Given the description of an element on the screen output the (x, y) to click on. 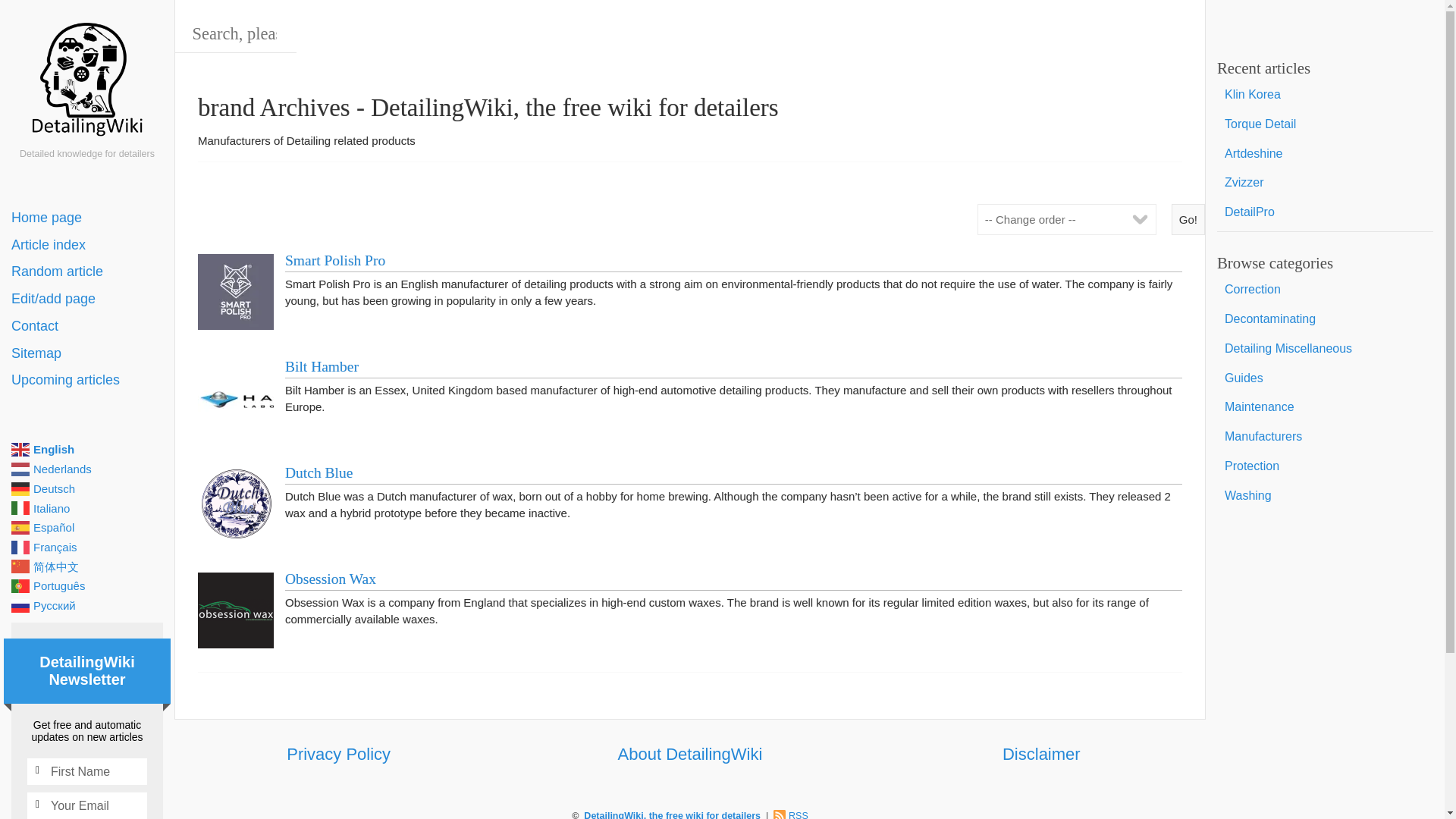
Random article (87, 271)
Detailing Miscellaneous (1324, 348)
Sitemap (87, 353)
Manufacturers (1324, 437)
Maintenance (1324, 407)
Klin Korea (1324, 94)
Decontaminating (1324, 319)
Go! (1188, 219)
Zvizzer (1324, 183)
Contact (87, 326)
Protection (1324, 466)
Italiano (87, 507)
English (87, 449)
Washing (1324, 496)
Search (58, 18)
